Given the description of an element on the screen output the (x, y) to click on. 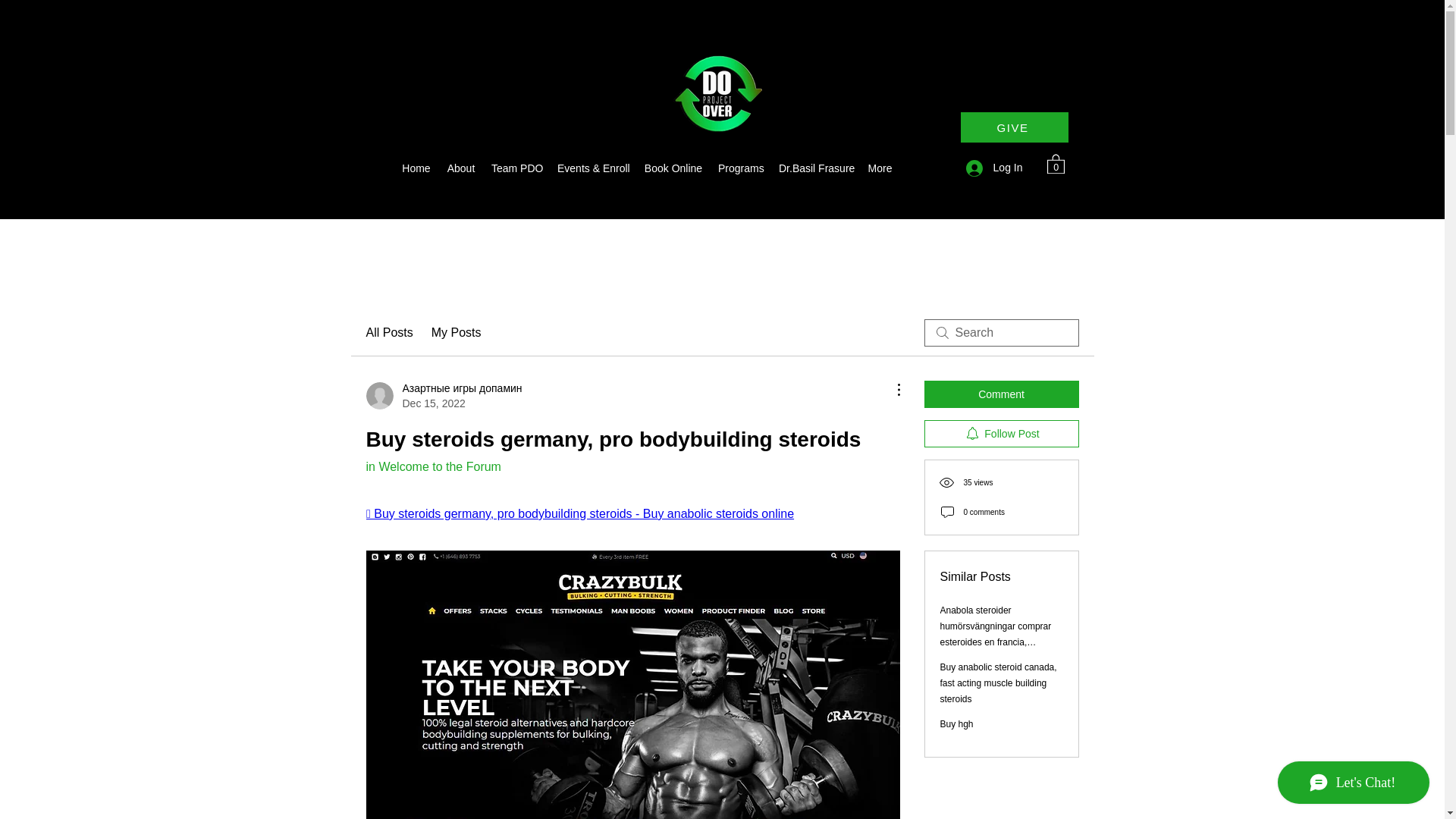
GIVE (1013, 127)
All Posts (388, 332)
in Welcome to the Forum (432, 466)
Dr.Basil Frasure (815, 168)
Team PDO (516, 168)
Comment (1000, 393)
Book Online (673, 168)
Follow Post (1000, 433)
Programs (740, 168)
Home (416, 168)
Log In (994, 167)
About (460, 168)
My Posts (455, 332)
Buy hgh (957, 724)
